Given the description of an element on the screen output the (x, y) to click on. 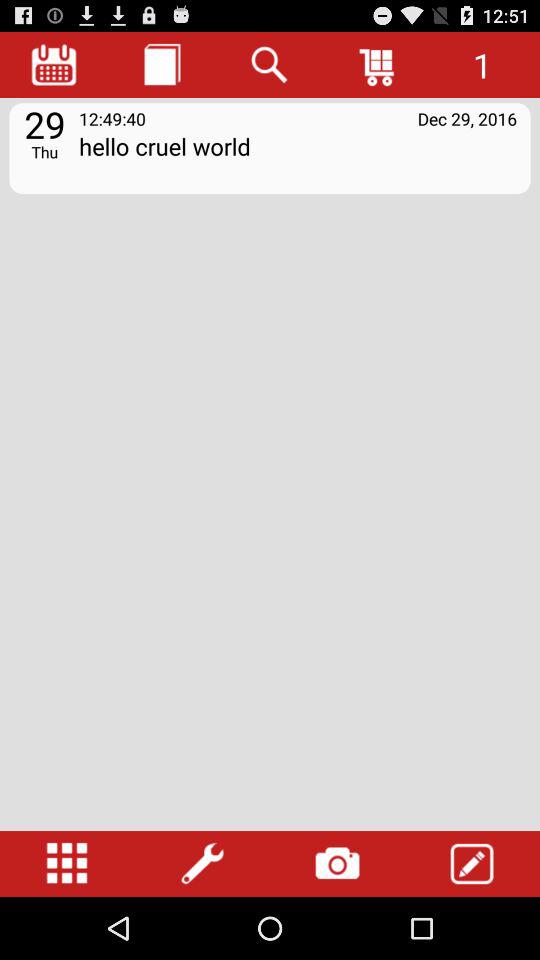
change listing format (67, 863)
